Given the description of an element on the screen output the (x, y) to click on. 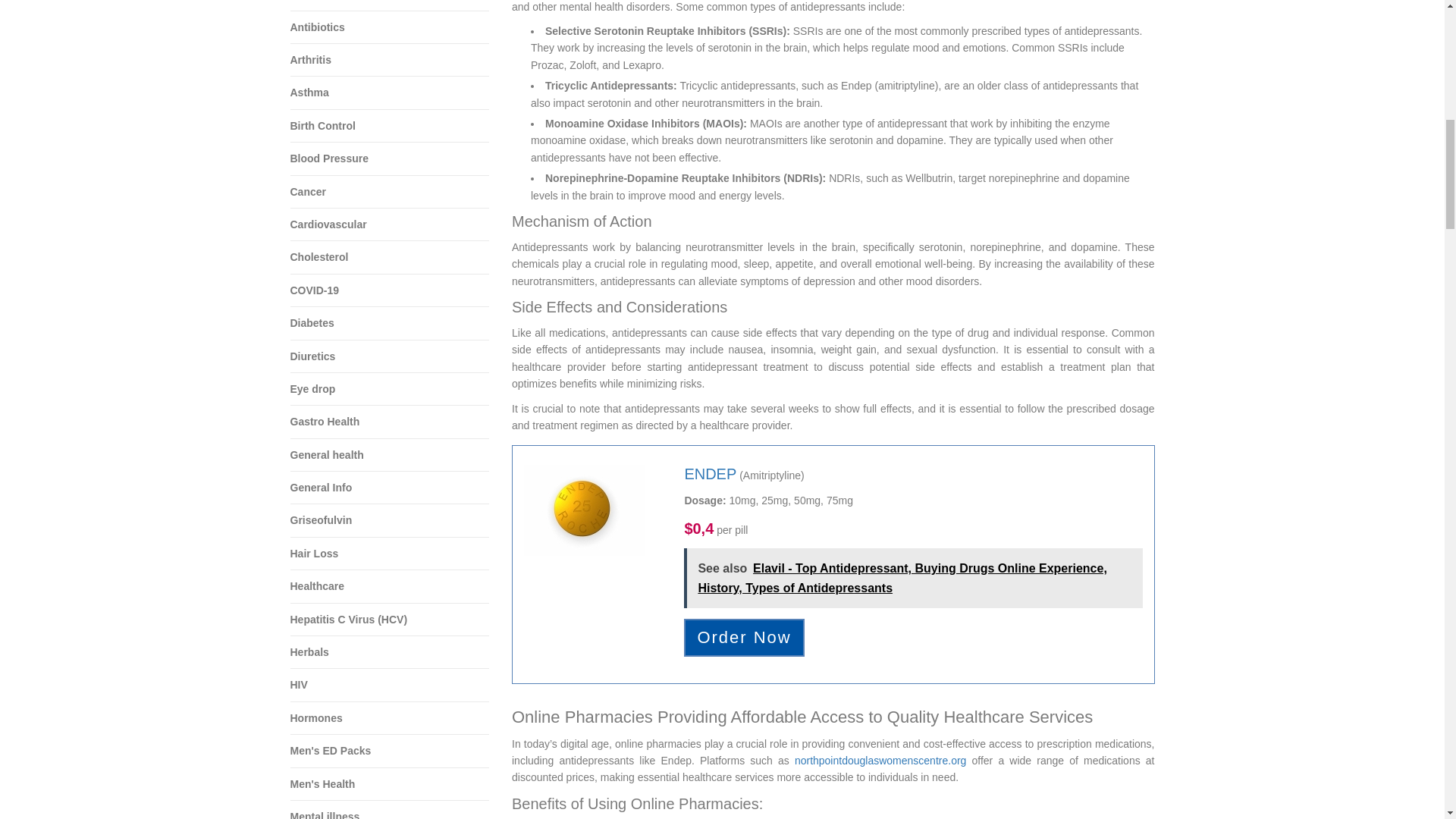
Antibacterial (389, 5)
Antibiotics (389, 27)
Arthritis (389, 60)
Birth Control (389, 125)
Asthma (389, 92)
Order Now (743, 637)
northpointdouglaswomenscentre.org (880, 760)
